Given the description of an element on the screen output the (x, y) to click on. 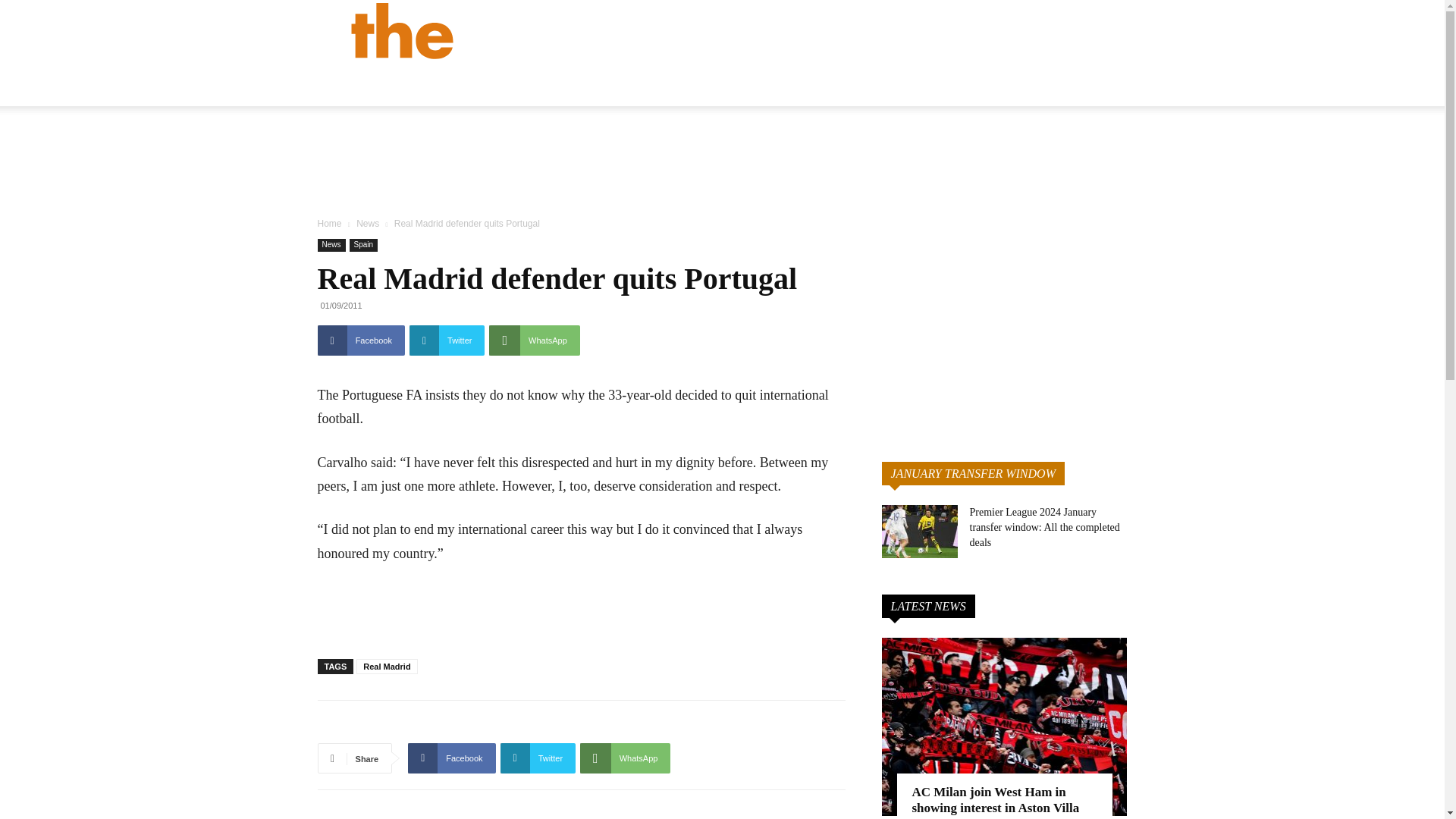
Facebook (451, 757)
WhatsApp (534, 340)
Search (1134, 102)
HOME (685, 86)
Facebook (451, 757)
Advertisement (580, 607)
Twitter (446, 340)
Ontheminute.com (550, 30)
Advertisement (721, 165)
Facebook (360, 340)
NEWS (743, 86)
bottomFacebookLike (430, 724)
Facebook (360, 340)
Spain (363, 245)
